Given the description of an element on the screen output the (x, y) to click on. 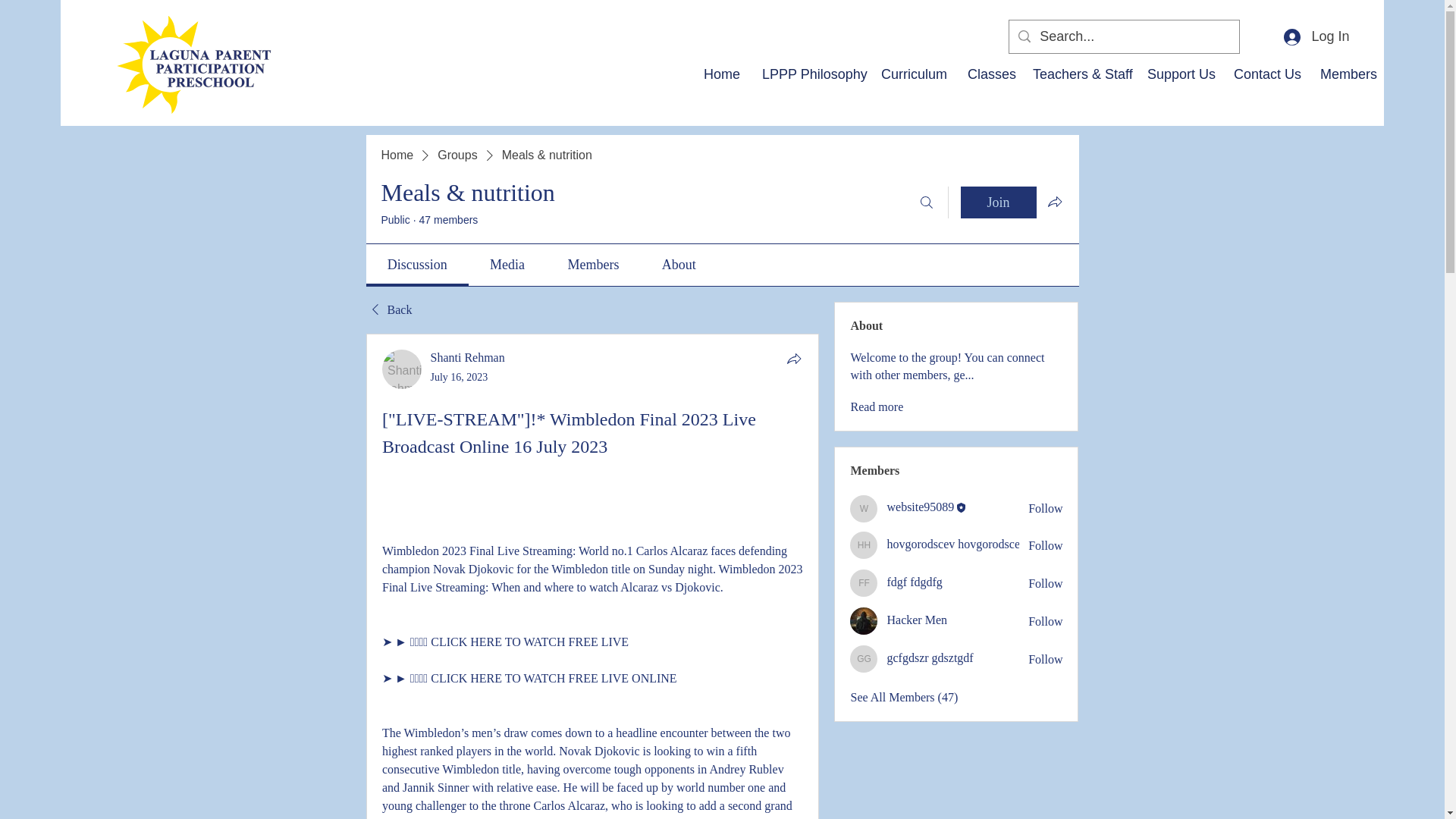
Members (1345, 74)
Hacker Men (863, 620)
Join (997, 202)
fdgf fdgdfg (863, 583)
Support Us (1179, 74)
Read more (876, 406)
Contact Us (1265, 74)
Back (388, 310)
July 16, 2023 (458, 377)
website95089 (863, 508)
Classes (989, 74)
LPPP Philosophy (810, 74)
Curriculum (912, 74)
hovgorodscev hovgorodscev (863, 544)
Home (722, 74)
